Given the description of an element on the screen output the (x, y) to click on. 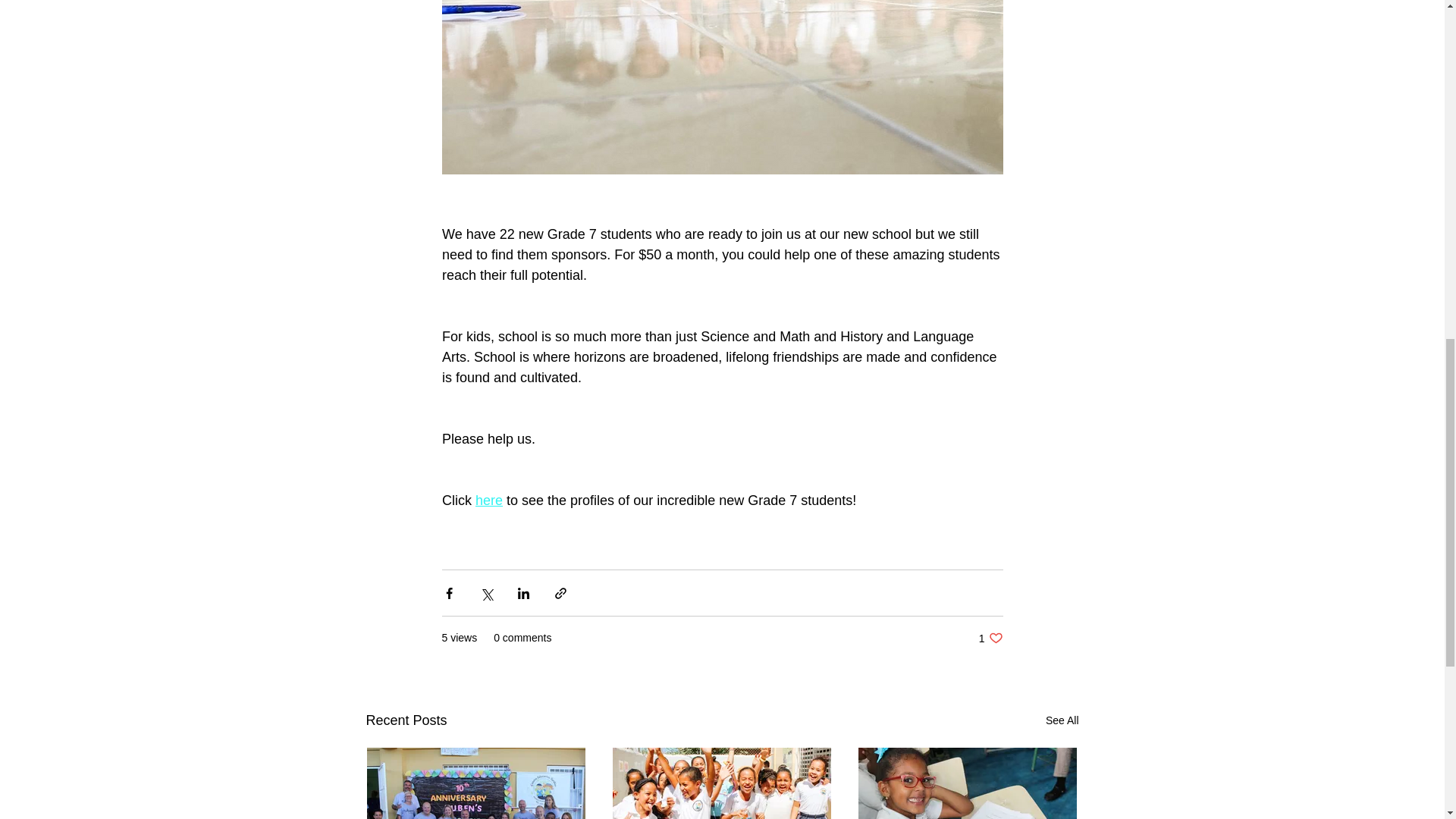
here (488, 500)
See All (990, 637)
